Given the description of an element on the screen output the (x, y) to click on. 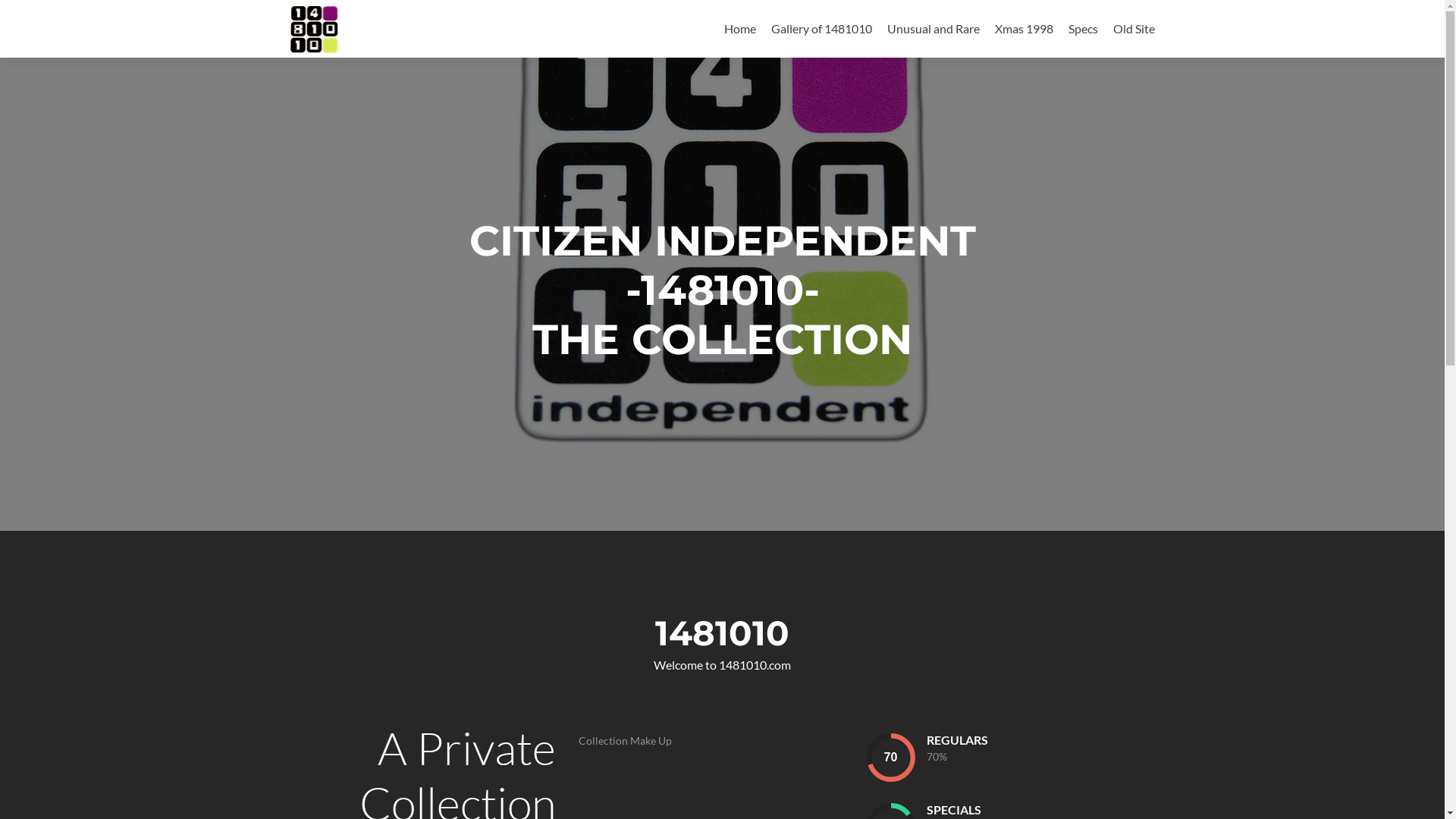
Old Site Element type: text (1133, 28)
Specs Element type: text (1082, 28)
Gallery of 1481010 Element type: text (820, 28)
Skip to content Element type: text (762, 9)
Unusual and Rare Element type: text (933, 28)
Home Element type: text (739, 28)
Xmas 1998 Element type: text (1023, 28)
